Given the description of an element on the screen output the (x, y) to click on. 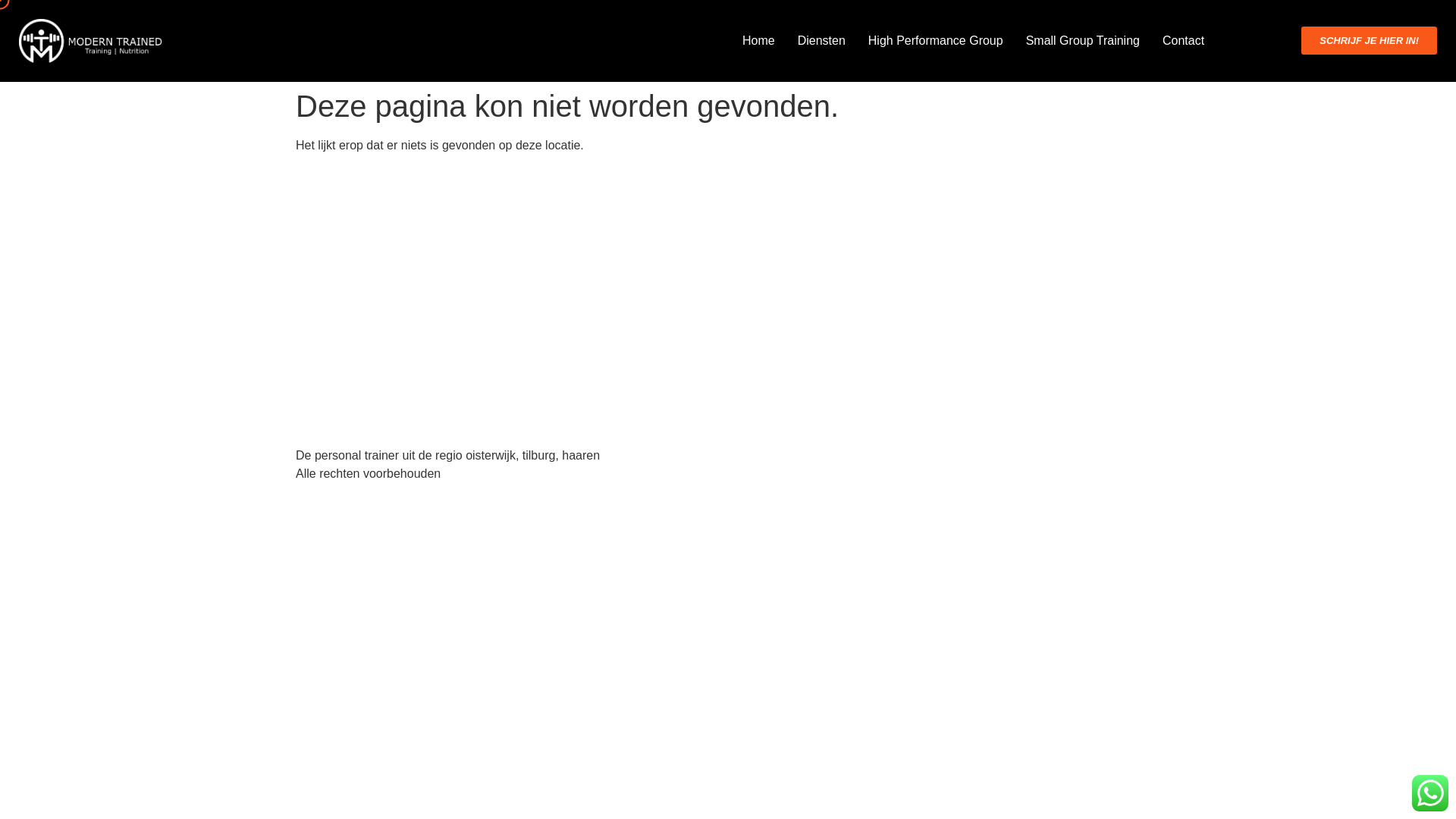
High Performance Group (935, 40)
Home (759, 40)
Diensten (821, 40)
SCHRIJF JE HIER IN! (1369, 40)
Small Group Training (1082, 40)
Contact (1182, 40)
